Given the description of an element on the screen output the (x, y) to click on. 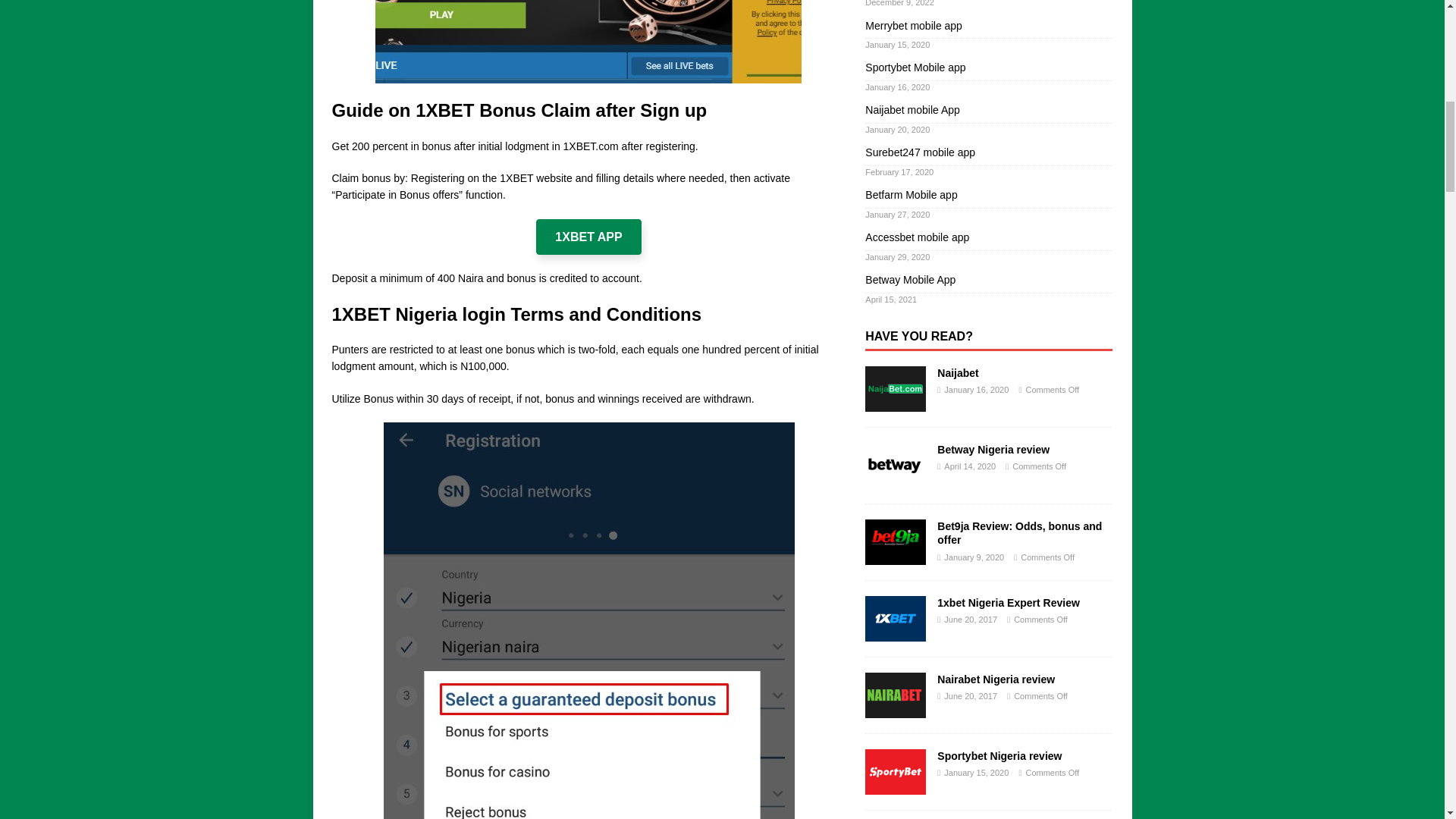
Betway Nigeria review (993, 449)
Bet9ja Review: Odds, bonus and offer (895, 542)
Betway Nigeria review (895, 465)
Naijabet (957, 372)
Bet9ja Review: Odds, bonus and offer (1019, 533)
Naijabet (895, 388)
